Given the description of an element on the screen output the (x, y) to click on. 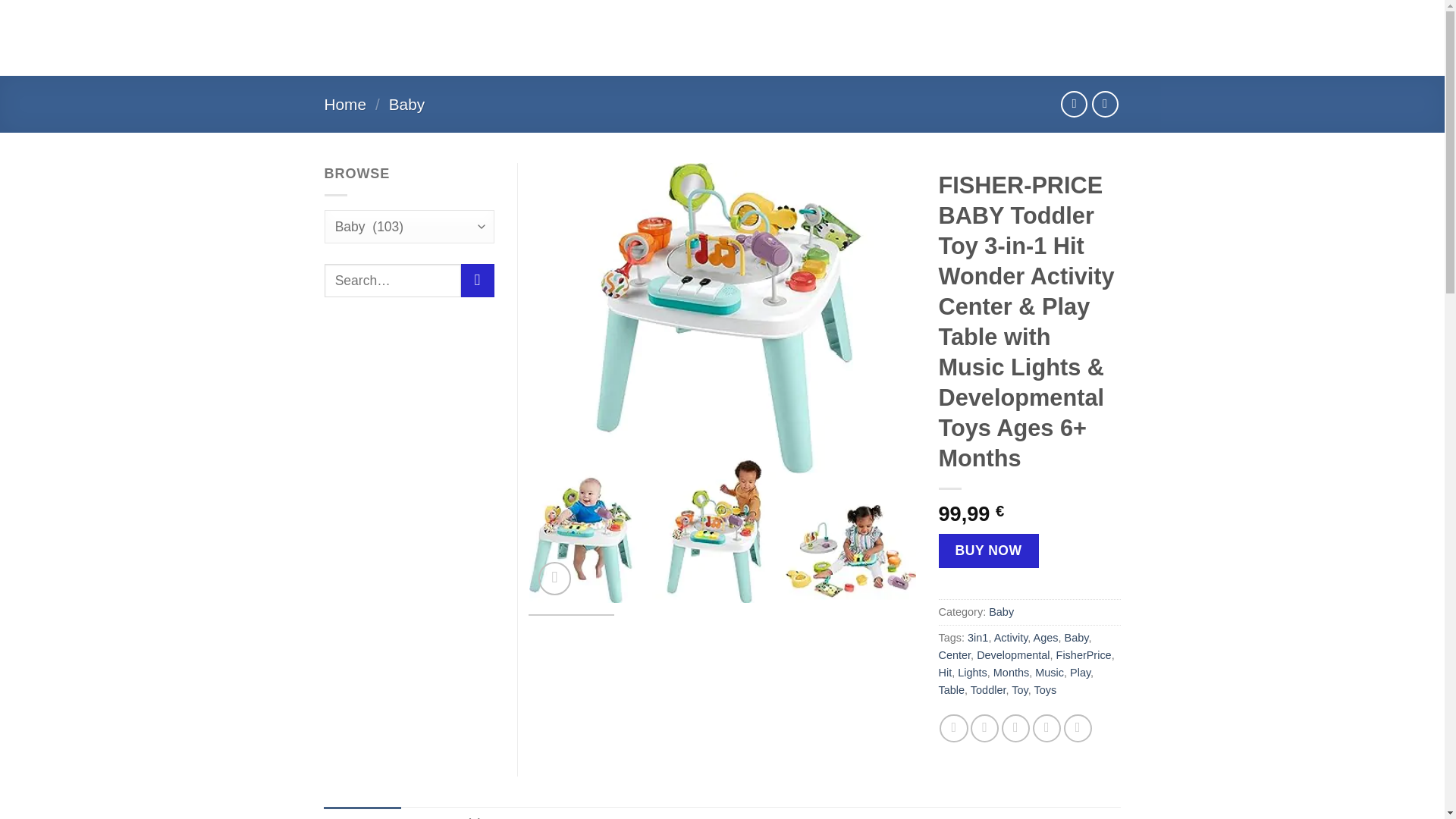
7KORES WEB STORIES (853, 52)
SHOPPING POLICY (719, 52)
LOGIN (974, 37)
SHOP (591, 22)
ABOUT US (542, 52)
Cart (1068, 37)
DISCLAIMER (617, 52)
WEB-STORIES (701, 22)
CONTACT US (881, 22)
Zoom (555, 578)
POLICY PAGE (792, 22)
Baby (406, 104)
HOME (548, 22)
Home (345, 104)
